Given the description of an element on the screen output the (x, y) to click on. 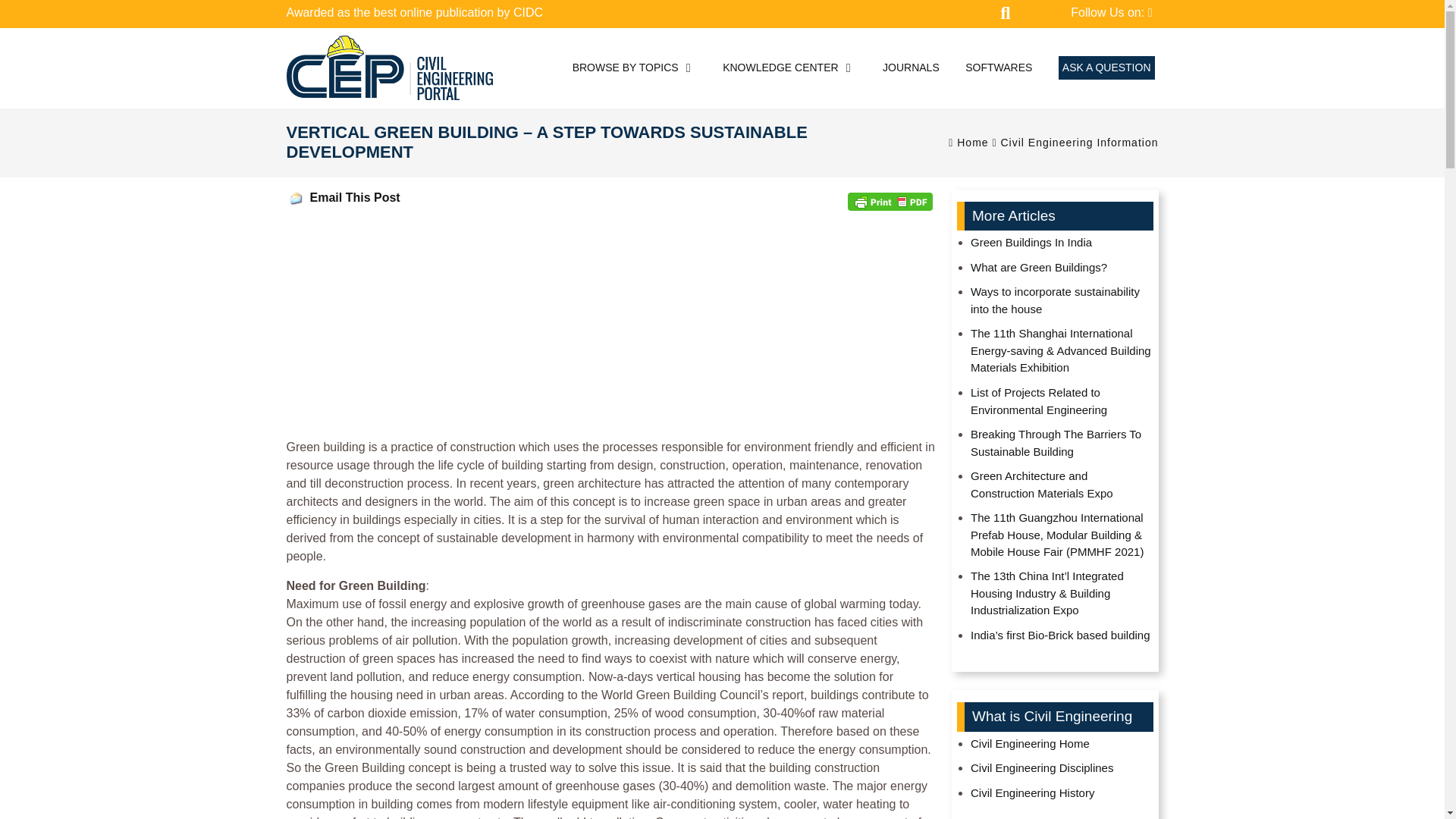
Email This Post (295, 198)
View all posts in Civil Engineering Information (1079, 142)
Follow Us on: (1110, 13)
Email This Post (353, 198)
